Given the description of an element on the screen output the (x, y) to click on. 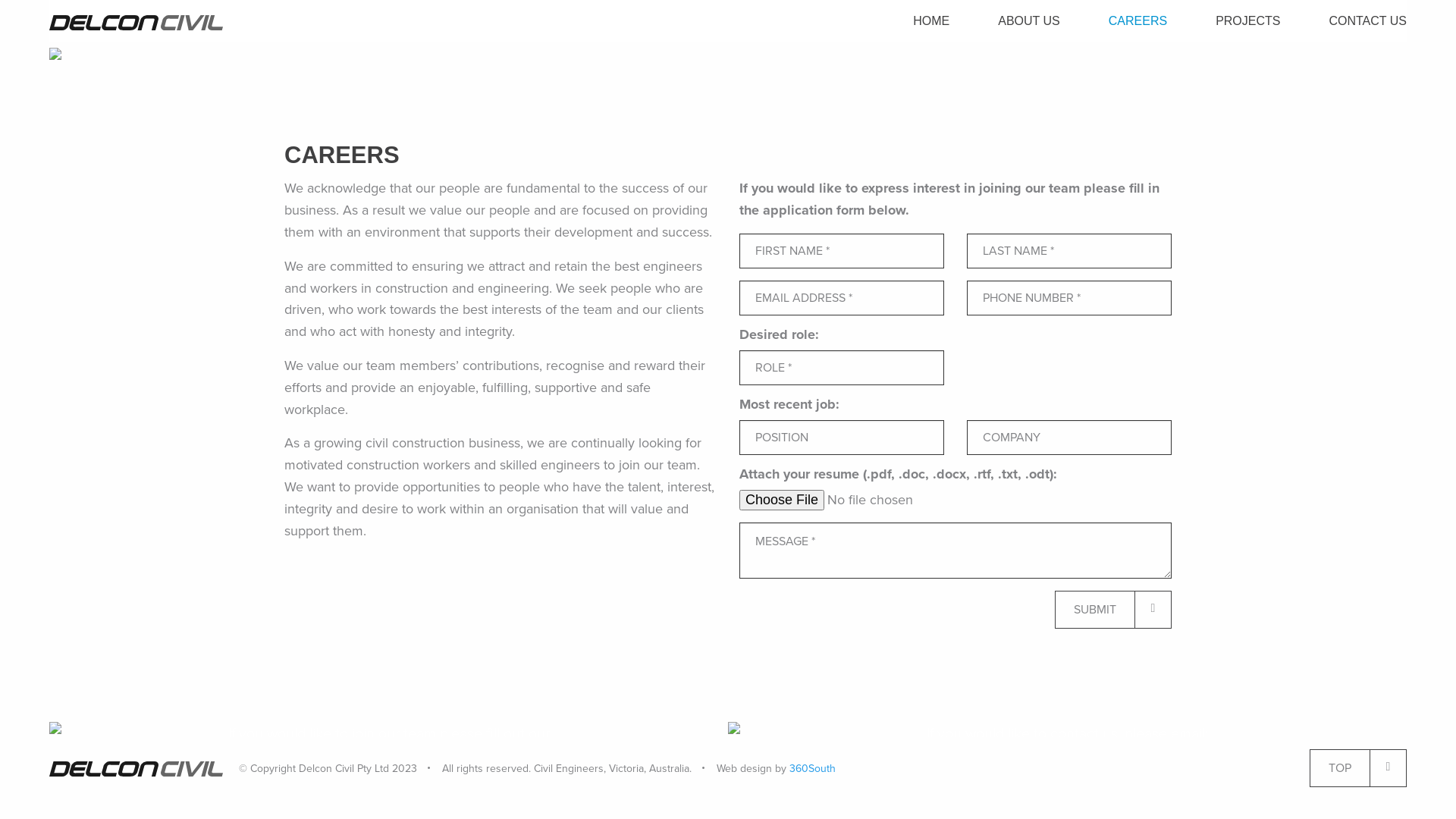
CONTACT US Element type: text (1355, 21)
CAREERS Element type: text (1137, 21)
SUBMIT Element type: text (1112, 609)
PROJECTS Element type: text (1247, 21)
ABOUT US Element type: text (1028, 21)
TOP Element type: text (1357, 768)
HOME Element type: text (930, 21)
360South Element type: text (812, 768)
